Given the description of an element on the screen output the (x, y) to click on. 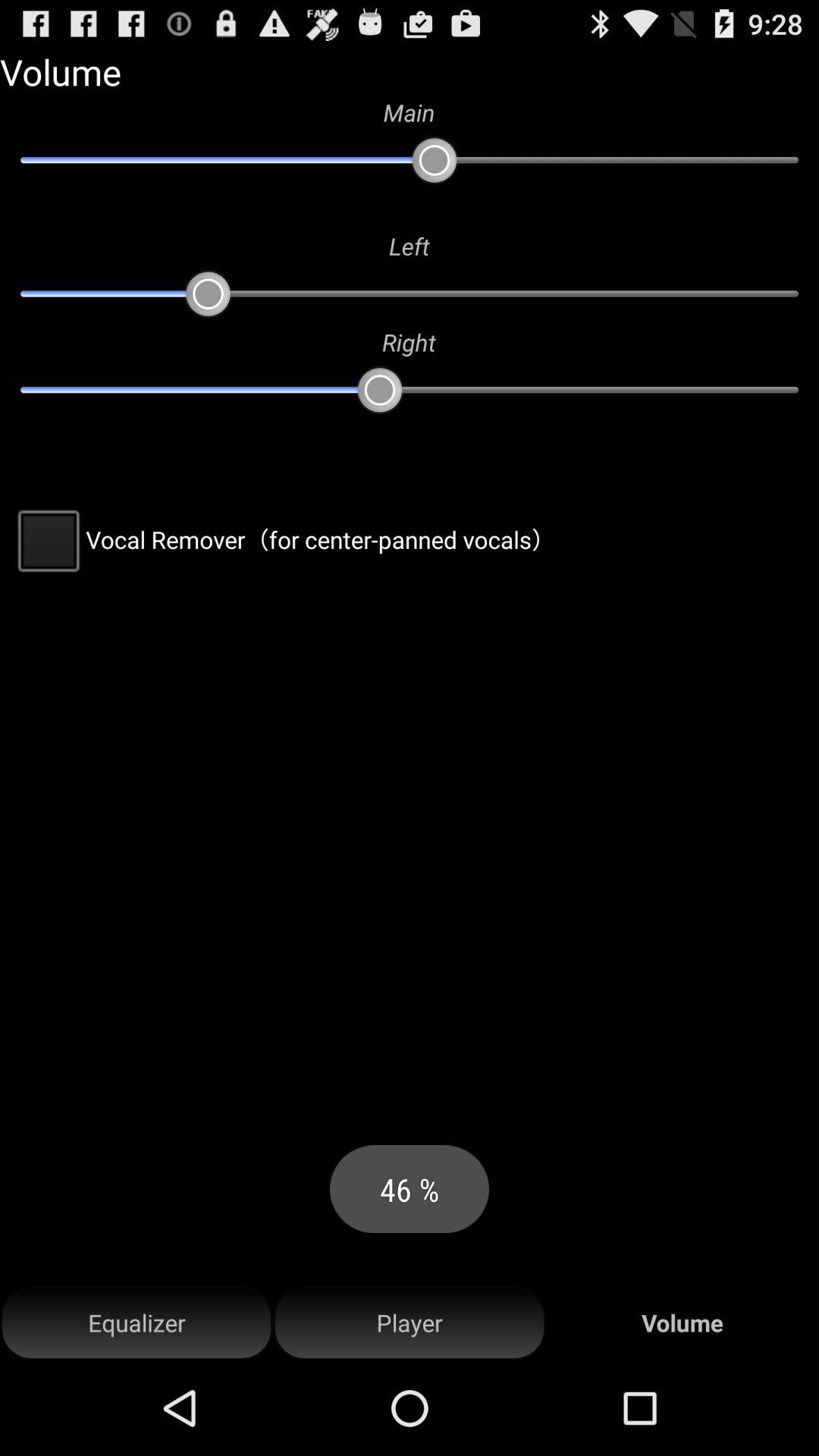
select the icon to the left of player (136, 1323)
